Given the description of an element on the screen output the (x, y) to click on. 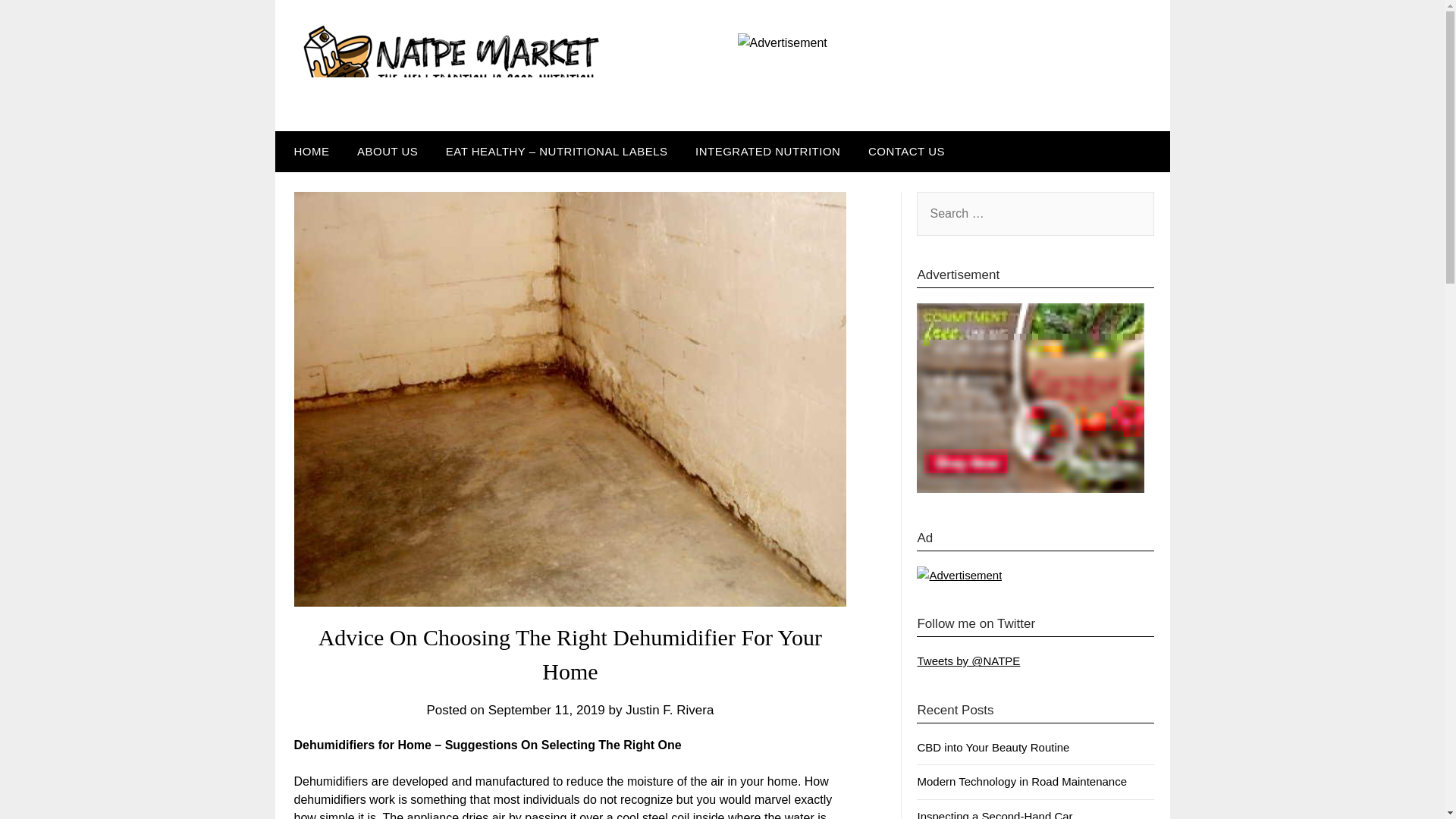
CBD into Your Beauty Routine (992, 747)
Inspecting a Second-Hand Car (994, 814)
ABOUT US (387, 151)
September 11, 2019 (546, 709)
CONTACT US (906, 151)
Search (38, 22)
INTEGRATED NUTRITION (766, 151)
HOME (307, 151)
Justin F. Rivera (669, 709)
Modern Technology in Road Maintenance (1021, 780)
